Given the description of an element on the screen output the (x, y) to click on. 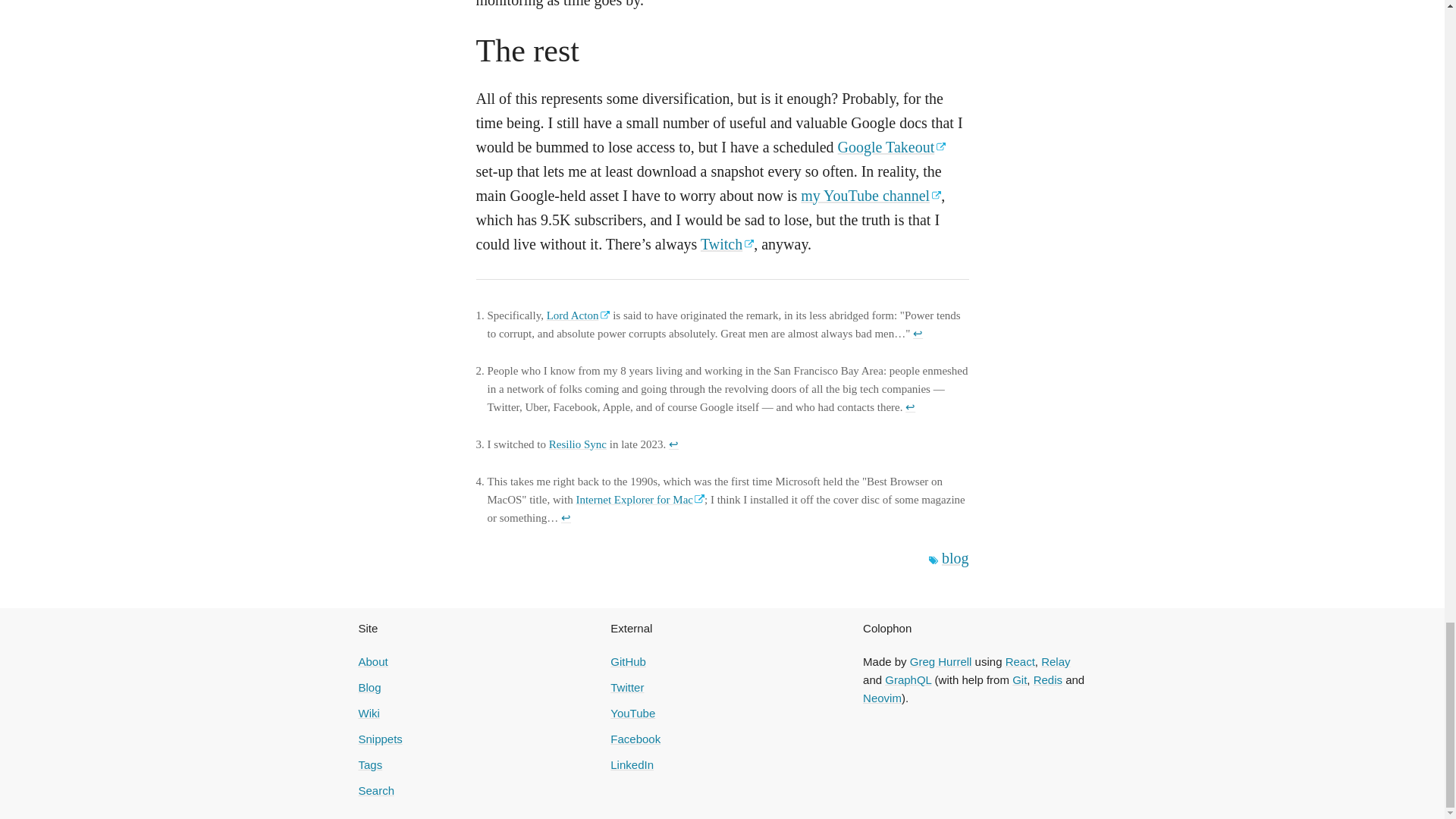
Lord Acton (578, 315)
Resilio Sync (577, 444)
About (372, 661)
Twitch (727, 243)
Blog (369, 686)
Wiki (368, 712)
blog (955, 556)
my YouTube channel (870, 194)
Internet Explorer for Mac (639, 499)
Google Takeout (892, 146)
